Given the description of an element on the screen output the (x, y) to click on. 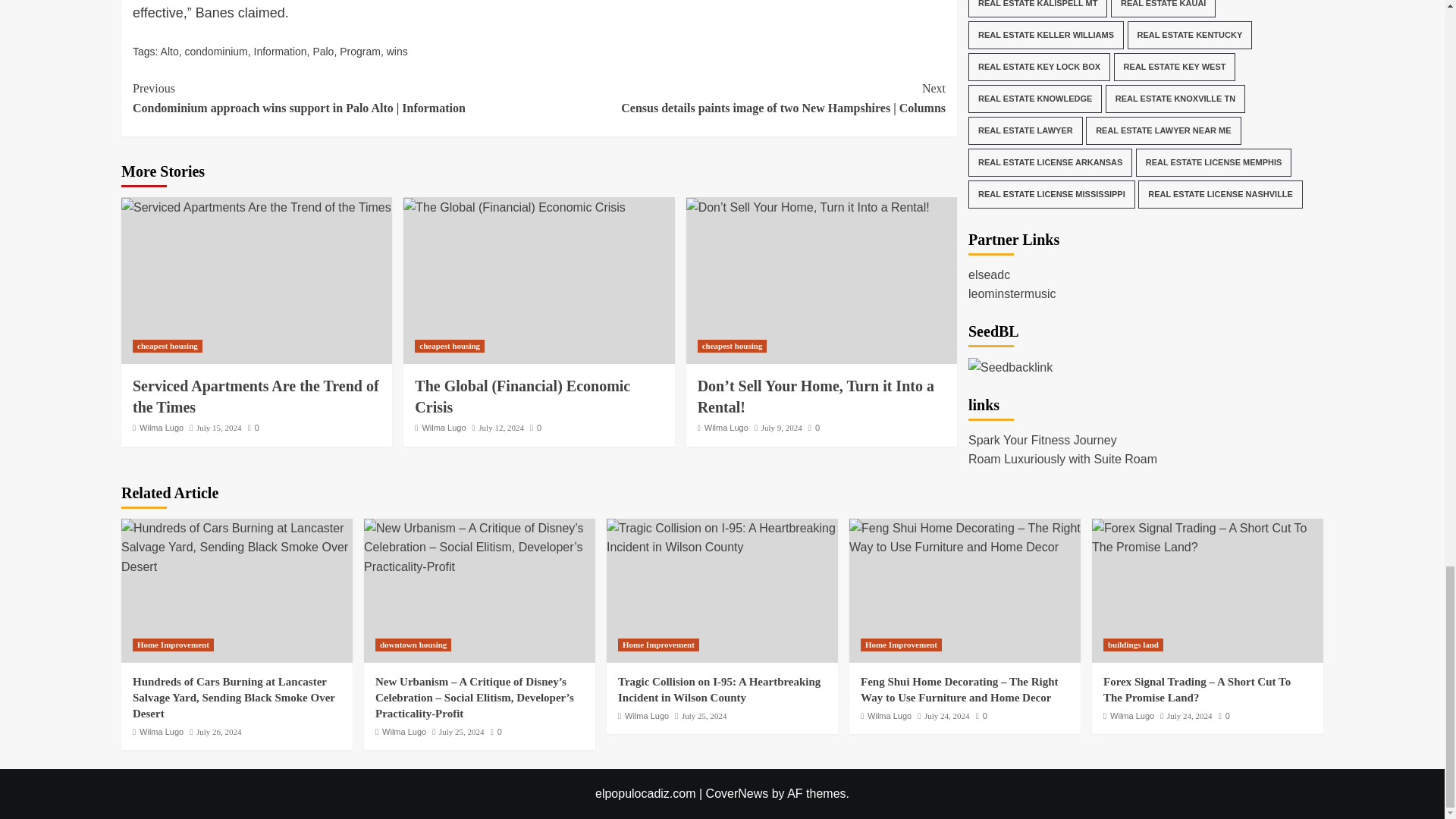
Serviced Apartments Are the Trend of the Times (255, 396)
wins (397, 51)
cheapest housing (167, 345)
Seedbacklink (1010, 109)
Wilma Lugo (443, 427)
Program (359, 51)
Serviced Apartments Are the Trend of the Times (255, 207)
Wilma Lugo (161, 427)
Information (280, 51)
July 12, 2024 (501, 427)
cheapest housing (449, 345)
0 (253, 427)
Alto (169, 51)
July 15, 2024 (218, 427)
